Given the description of an element on the screen output the (x, y) to click on. 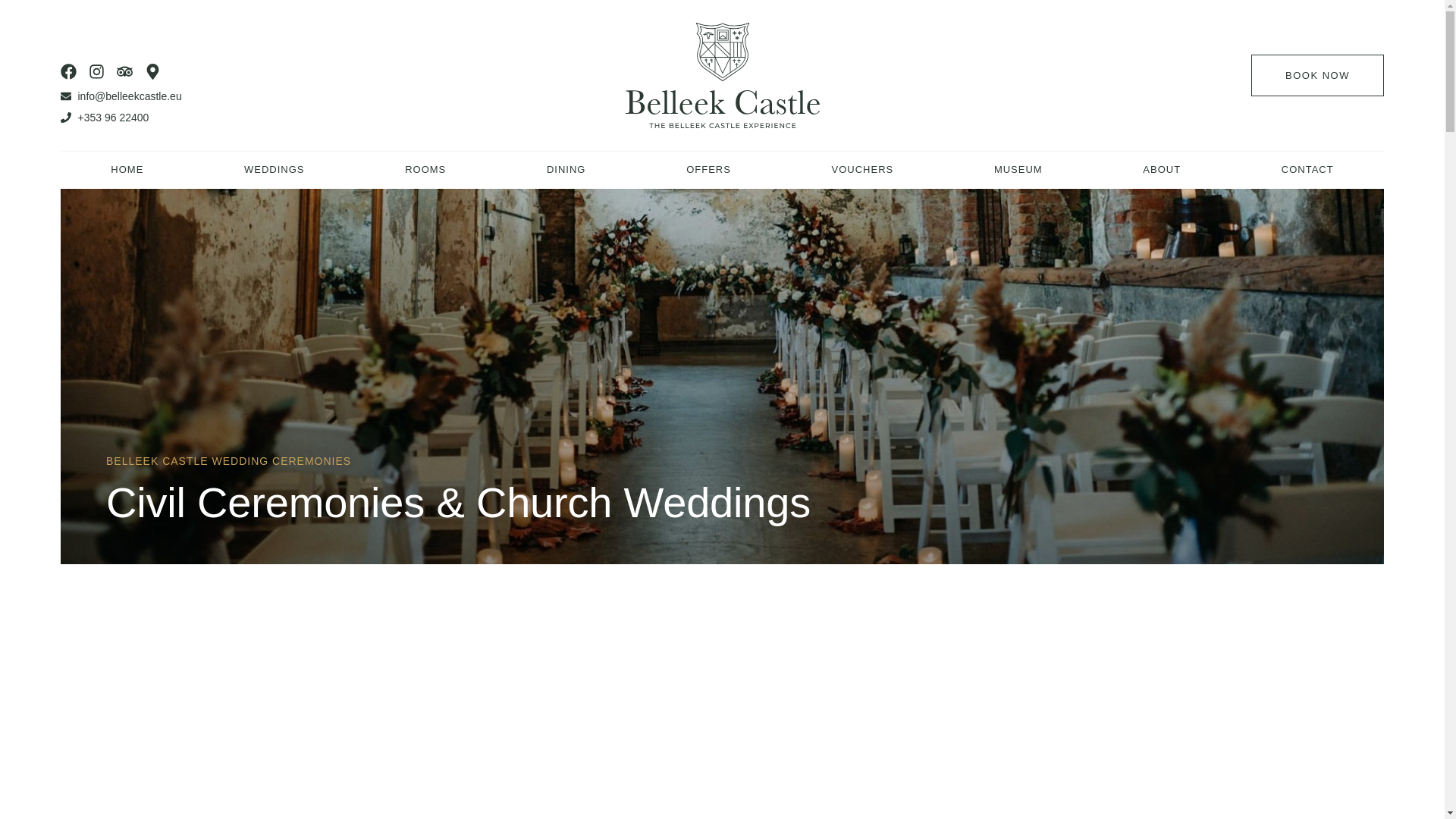
OFFERS (708, 169)
VOUCHERS (861, 169)
ROOMS (425, 169)
DINING (566, 169)
HOME (127, 169)
MUSEUM (1018, 169)
CONTACT (1307, 169)
ABOUT (1161, 169)
BOOK NOW (1317, 75)
WEDDINGS (274, 169)
